Given the description of an element on the screen output the (x, y) to click on. 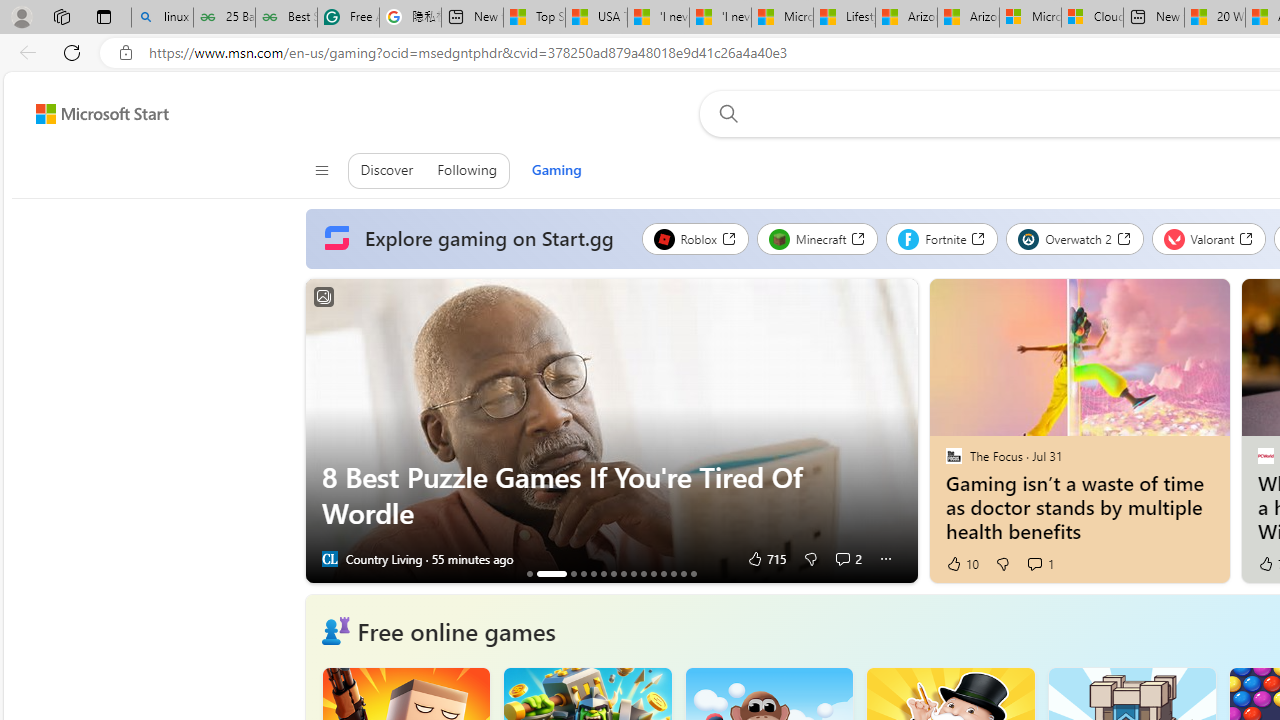
Free AI Writing Assistance for Students | Grammarly (347, 17)
View comments 2 Comment (847, 558)
Nintendo Consoles With The Most Zelda Games (583, 573)
linux basic - Search (162, 17)
Explore gaming on Start.gg (473, 239)
Cloud Computing Services | Microsoft Azure (1092, 17)
AutomationID: tab_nativead-resinfopane-6 (603, 573)
KingdomScape - Gameplay (643, 573)
Overwatch 2 (1075, 238)
AutomationID: tab_nativead-infopane-11 (653, 573)
